Given the description of an element on the screen output the (x, y) to click on. 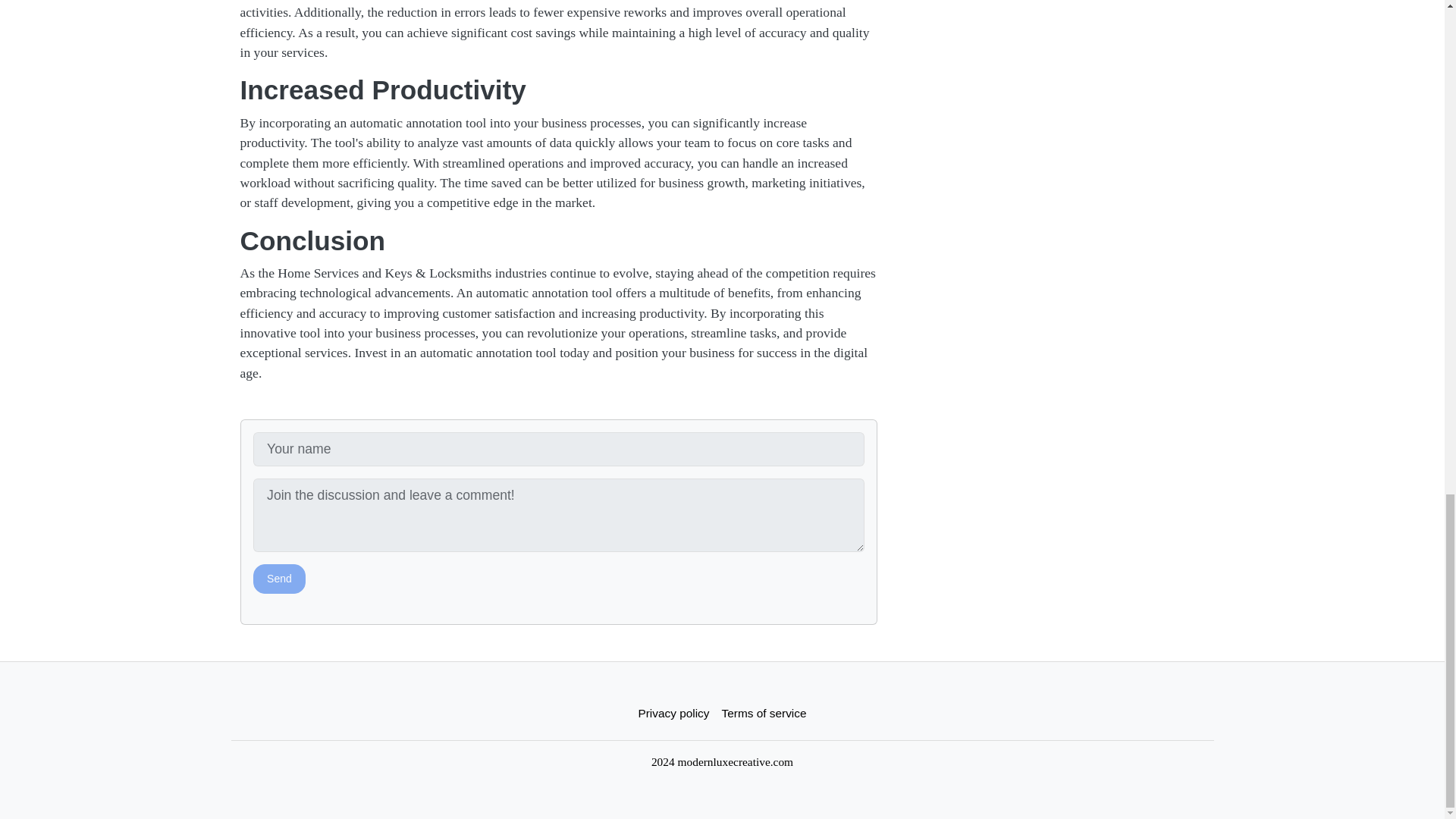
Send (279, 578)
Send (279, 578)
Privacy policy (672, 713)
Terms of service (764, 713)
